Given the description of an element on the screen output the (x, y) to click on. 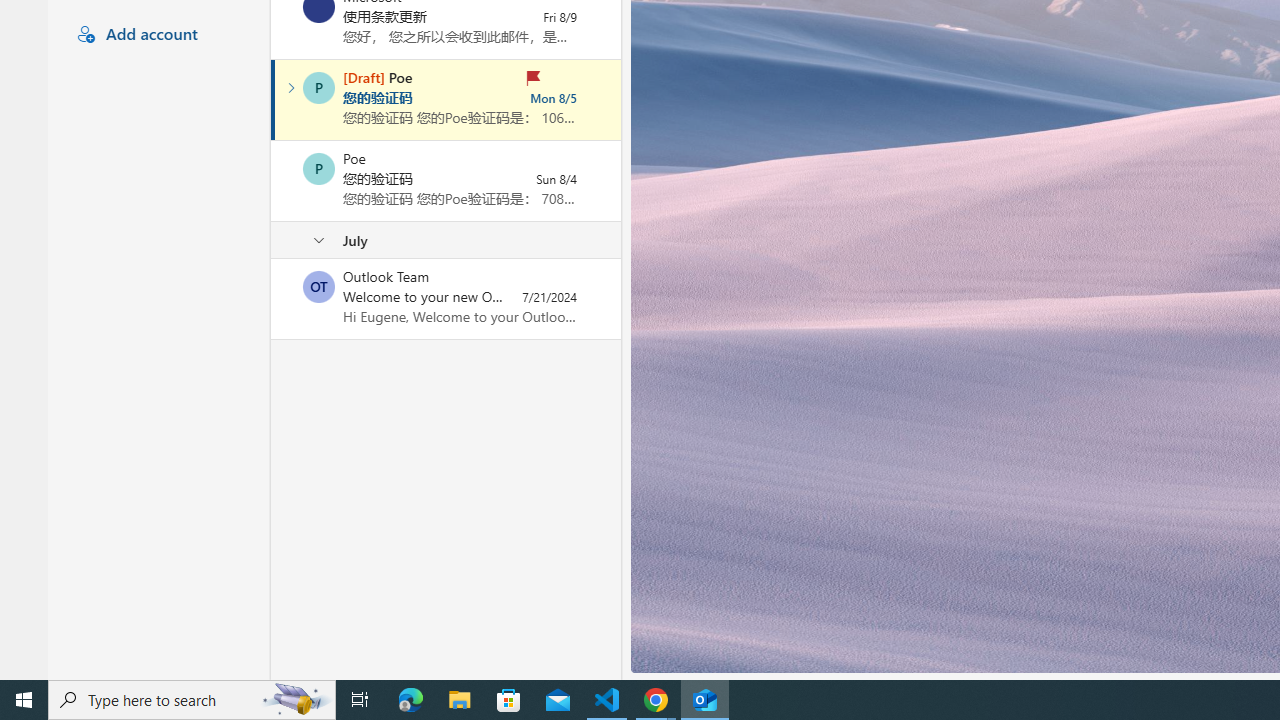
Outlook Team (319, 286)
Select a conversation (319, 286)
Mark as read (273, 99)
Mark as unread (273, 299)
Poe (319, 168)
Expand conversation (291, 88)
